Given the description of an element on the screen output the (x, y) to click on. 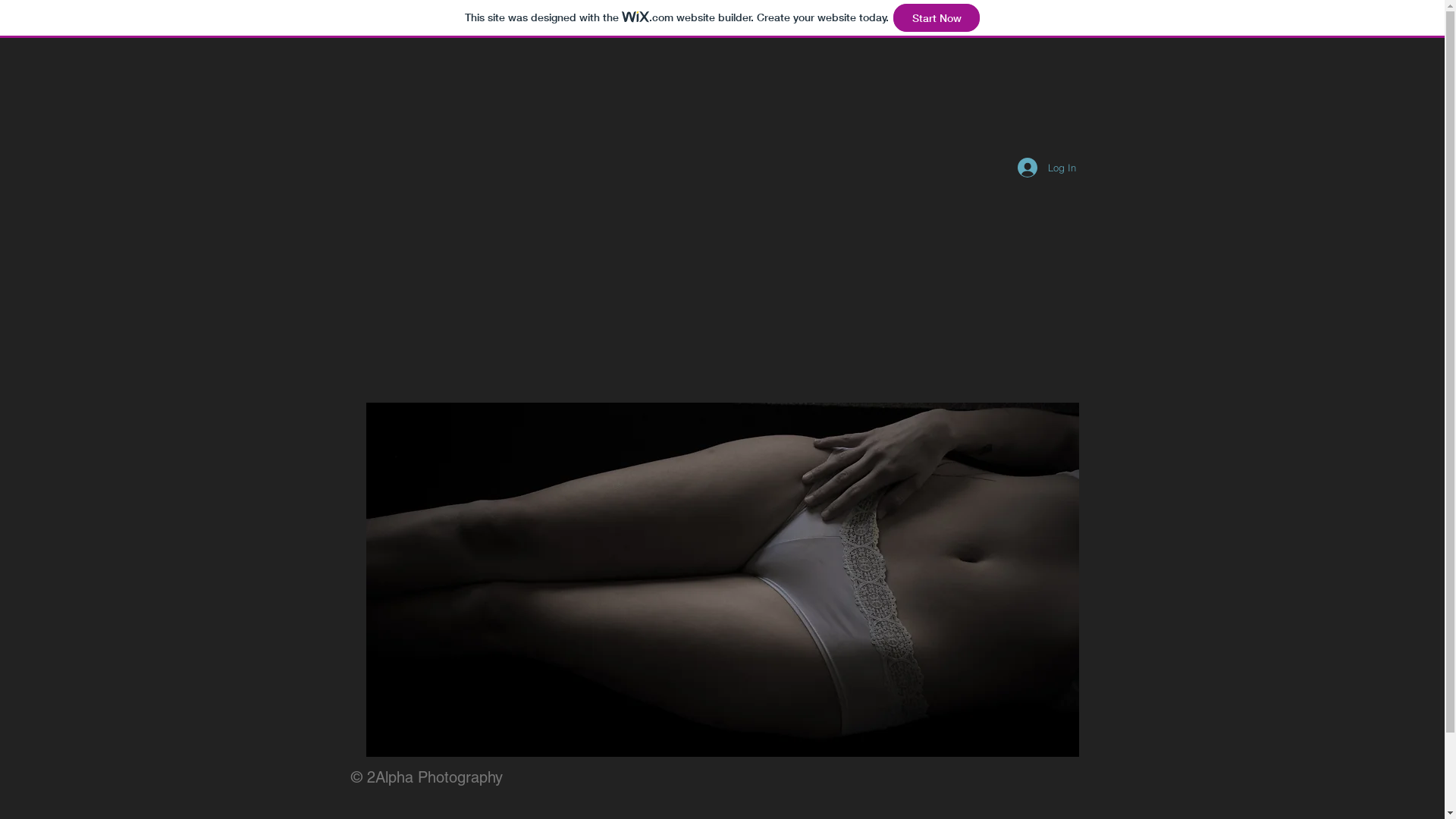
Log In Element type: text (1046, 167)
